Given the description of an element on the screen output the (x, y) to click on. 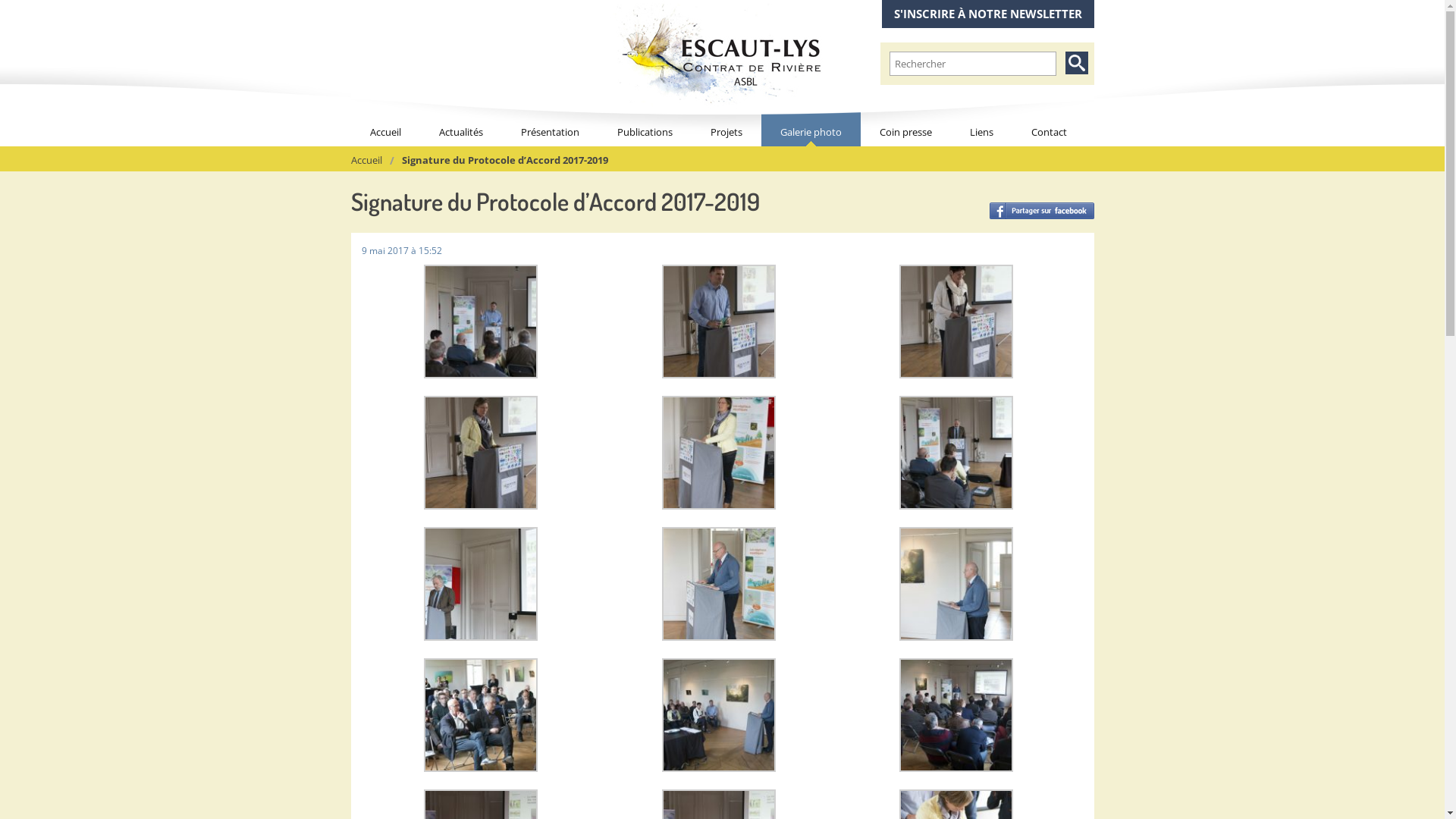
Galerie photo Element type: text (810, 121)
Projets Element type: text (726, 121)
Liens Element type: text (981, 121)
Coin presse Element type: text (904, 121)
Publications Element type: text (643, 121)
Contact Element type: text (1048, 121)
Accueil Element type: text (365, 159)
Accueil Element type: text (384, 121)
